Given the description of an element on the screen output the (x, y) to click on. 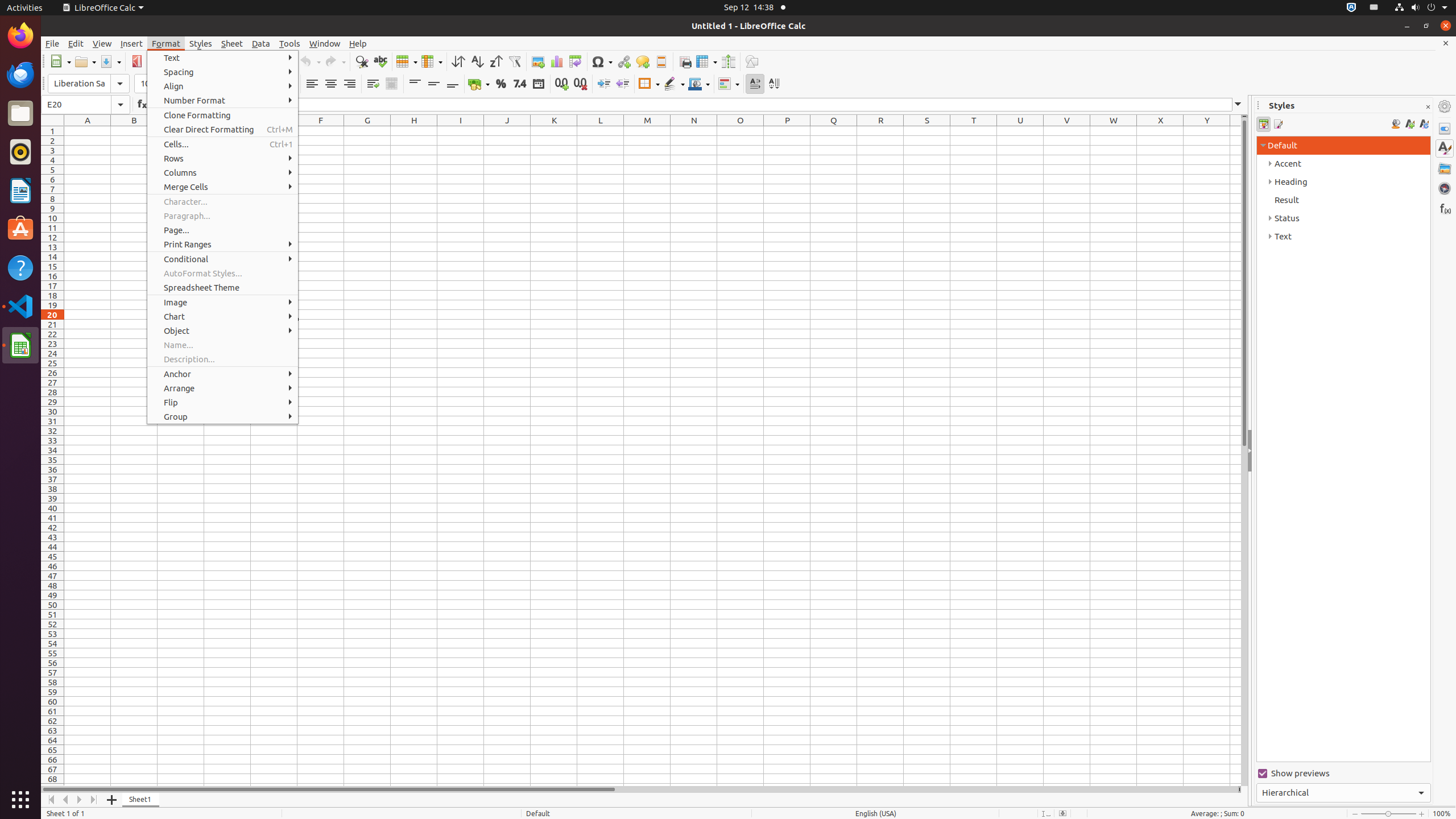
Edit Element type: menu (75, 43)
Clear Direct Formatting Element type: menu-item (222, 129)
Headers and Footers Element type: push-button (660, 61)
Styles Element type: radio-button (1444, 148)
Z1 Element type: table-cell (1235, 130)
